Given the description of an element on the screen output the (x, y) to click on. 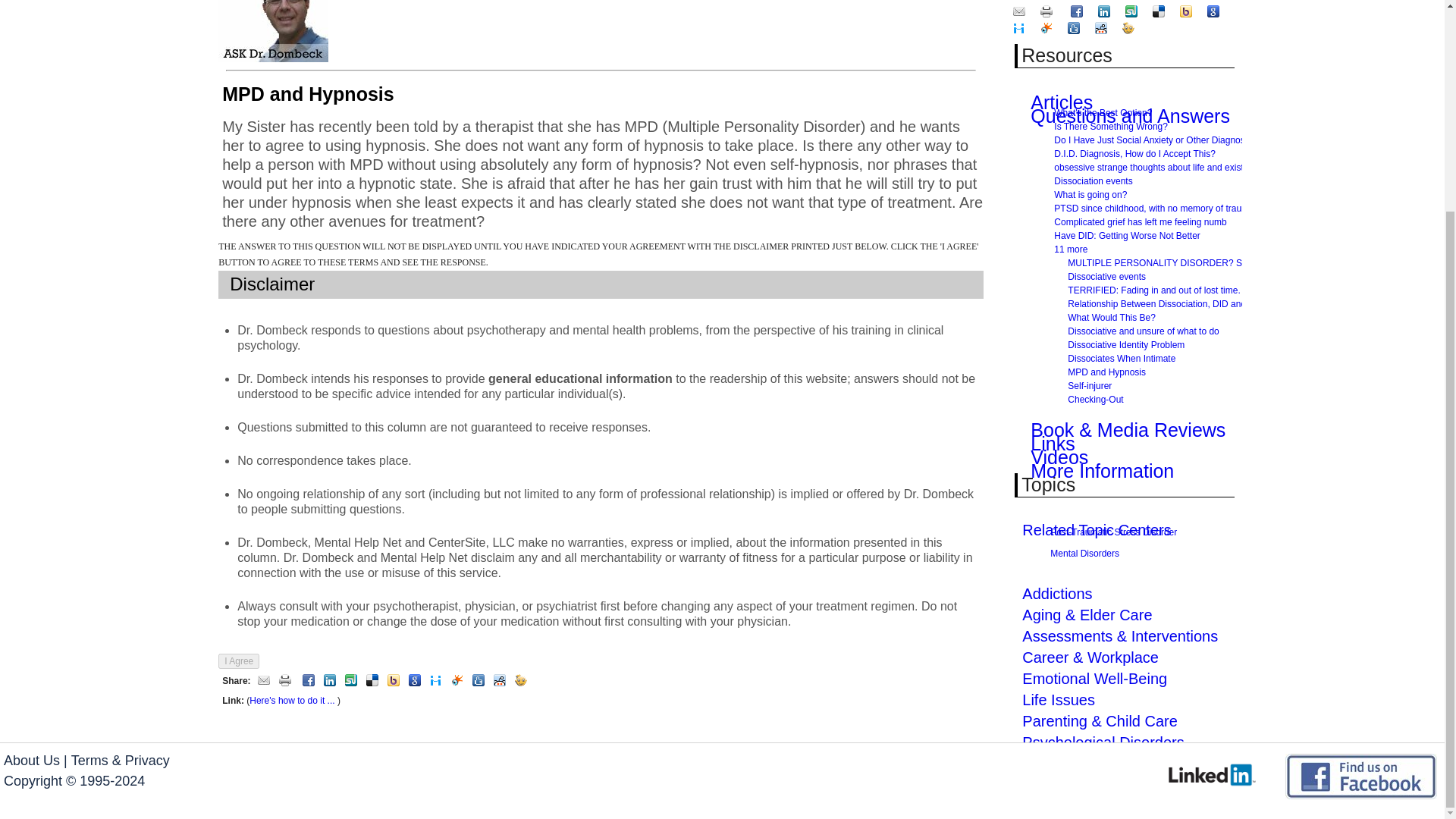
squidoo (456, 680)
linkedin (329, 680)
link to this article (291, 700)
linkedin (1105, 10)
print (1048, 10)
digg (477, 680)
stumbleupon (1132, 10)
google bookmarks (414, 680)
facebook (1077, 10)
email (263, 680)
email (1020, 10)
diigo (435, 680)
I Agree (238, 661)
reddit (499, 680)
delicious (371, 680)
